Given the description of an element on the screen output the (x, y) to click on. 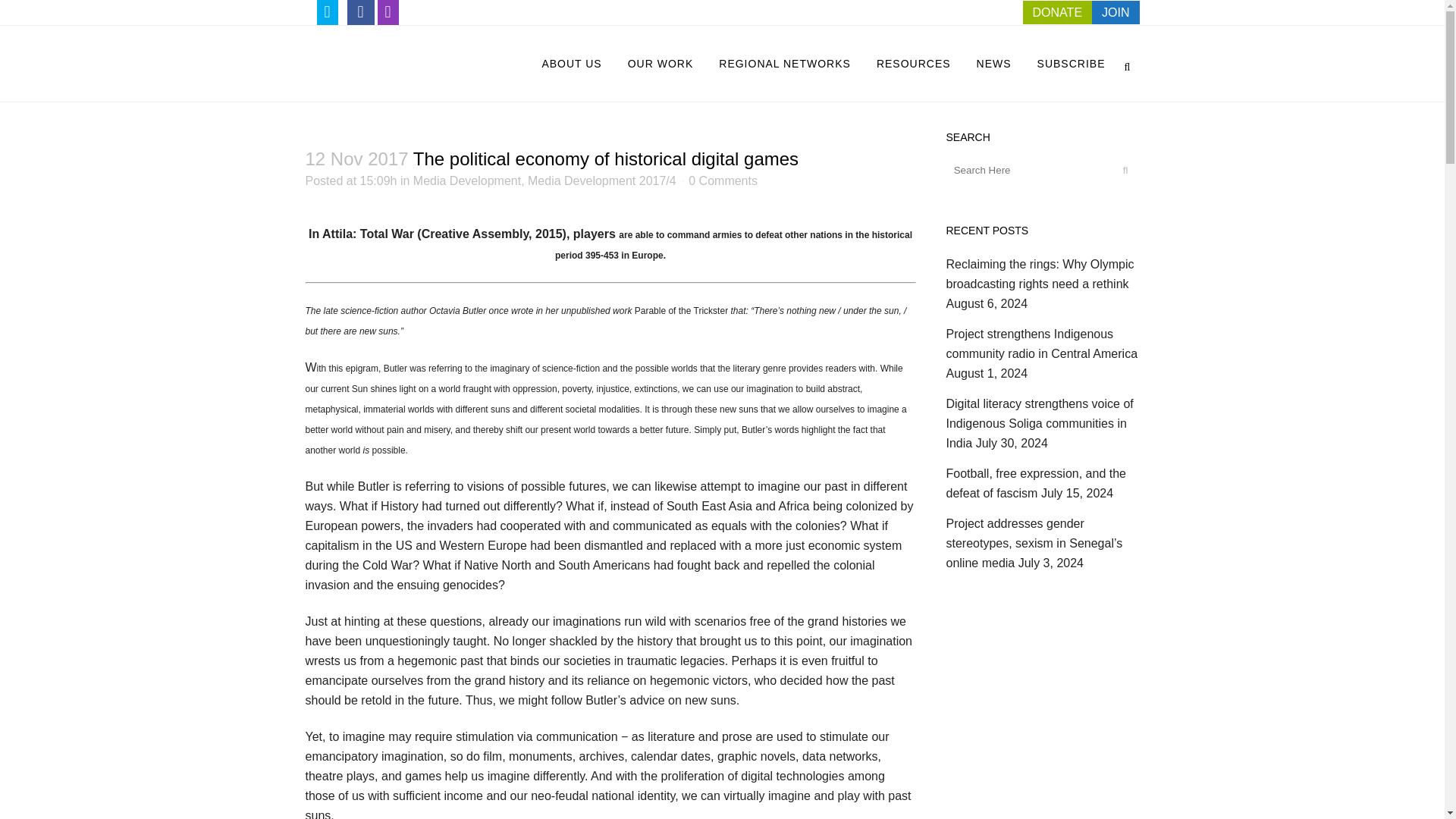
DONATE (1057, 12)
REGIONAL NETWORKS (784, 63)
OUR WORK (660, 63)
ABOUT US (571, 63)
JOIN (1115, 12)
